Given the description of an element on the screen output the (x, y) to click on. 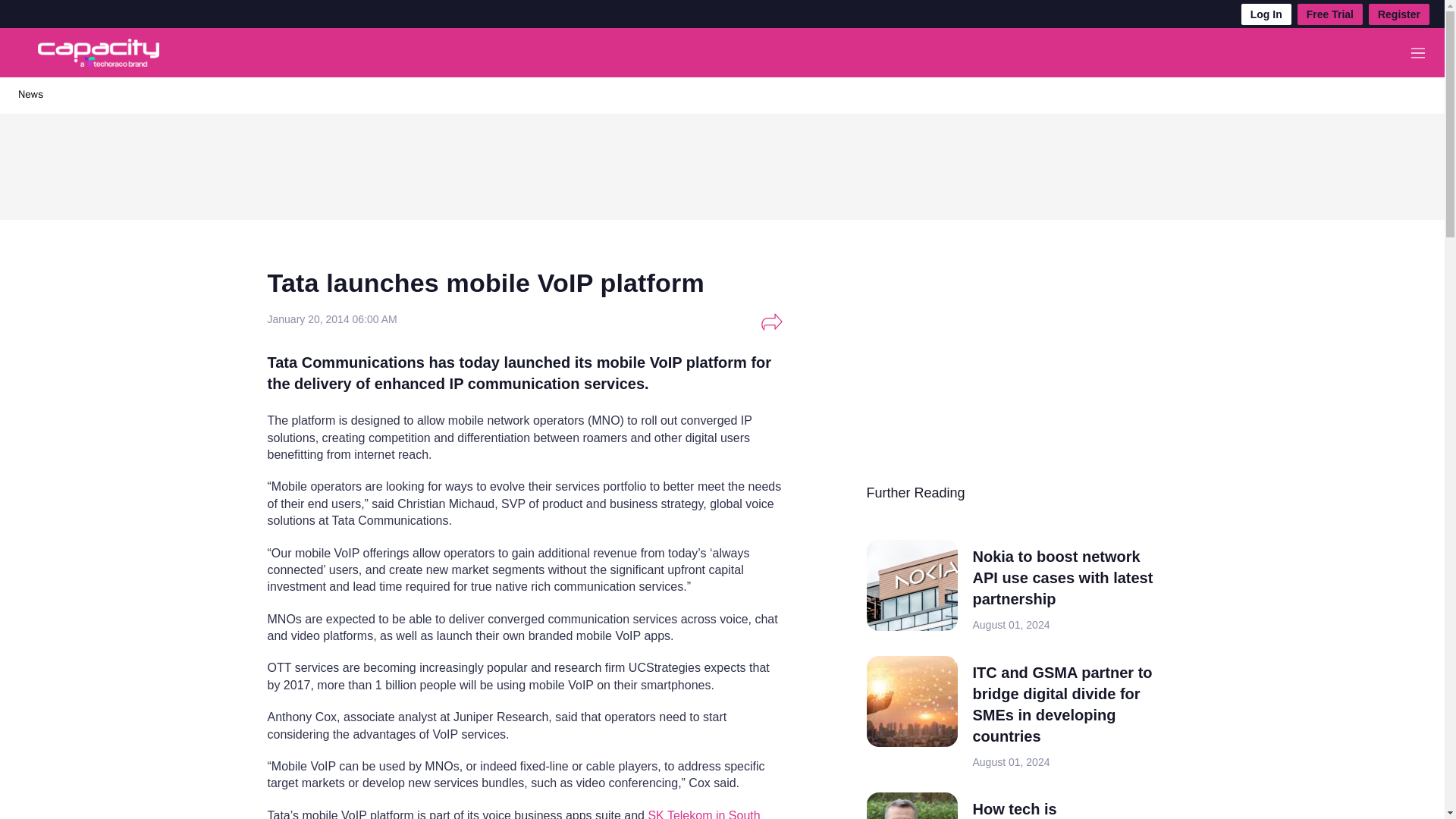
3rd party ad content (722, 162)
Share (771, 322)
3rd party ad content (979, 375)
Free Trial (1329, 13)
Register (1398, 13)
Log In (1266, 13)
